Given the description of an element on the screen output the (x, y) to click on. 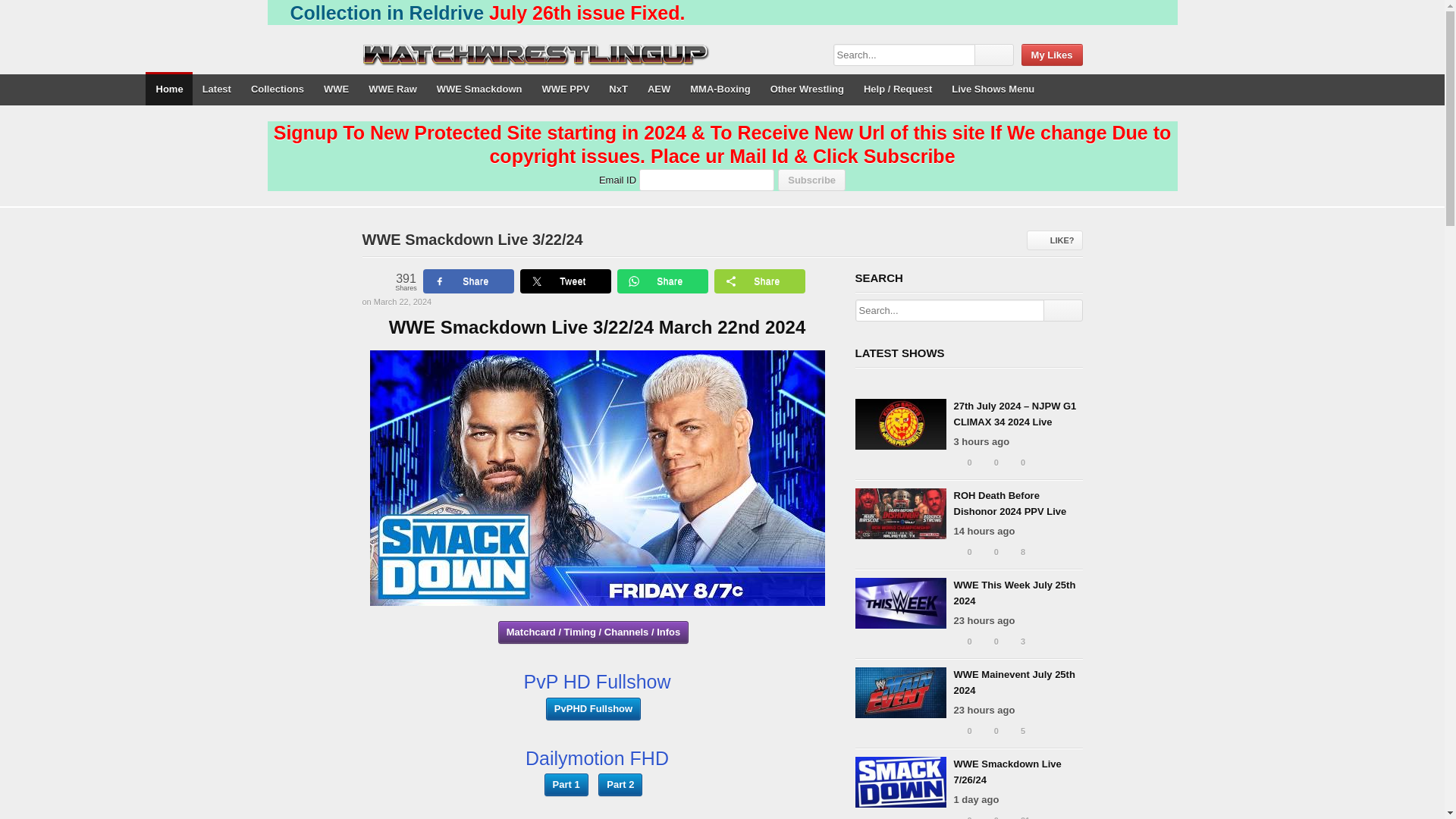
Collection in Reldrive (386, 12)
ROH Death Before Dishonor 2024 PPV Live (1010, 502)
WWE PPV (564, 89)
Other Wrestling (806, 89)
Search (1062, 310)
AEW (658, 89)
Latest (216, 89)
MMA-Boxing (718, 89)
WWE This Week July 25th 2024 (900, 603)
WWE Raw (392, 89)
Search (994, 55)
Search (1062, 310)
My Likes (1052, 55)
WWE Smackdown (478, 89)
Search (994, 55)
